Given the description of an element on the screen output the (x, y) to click on. 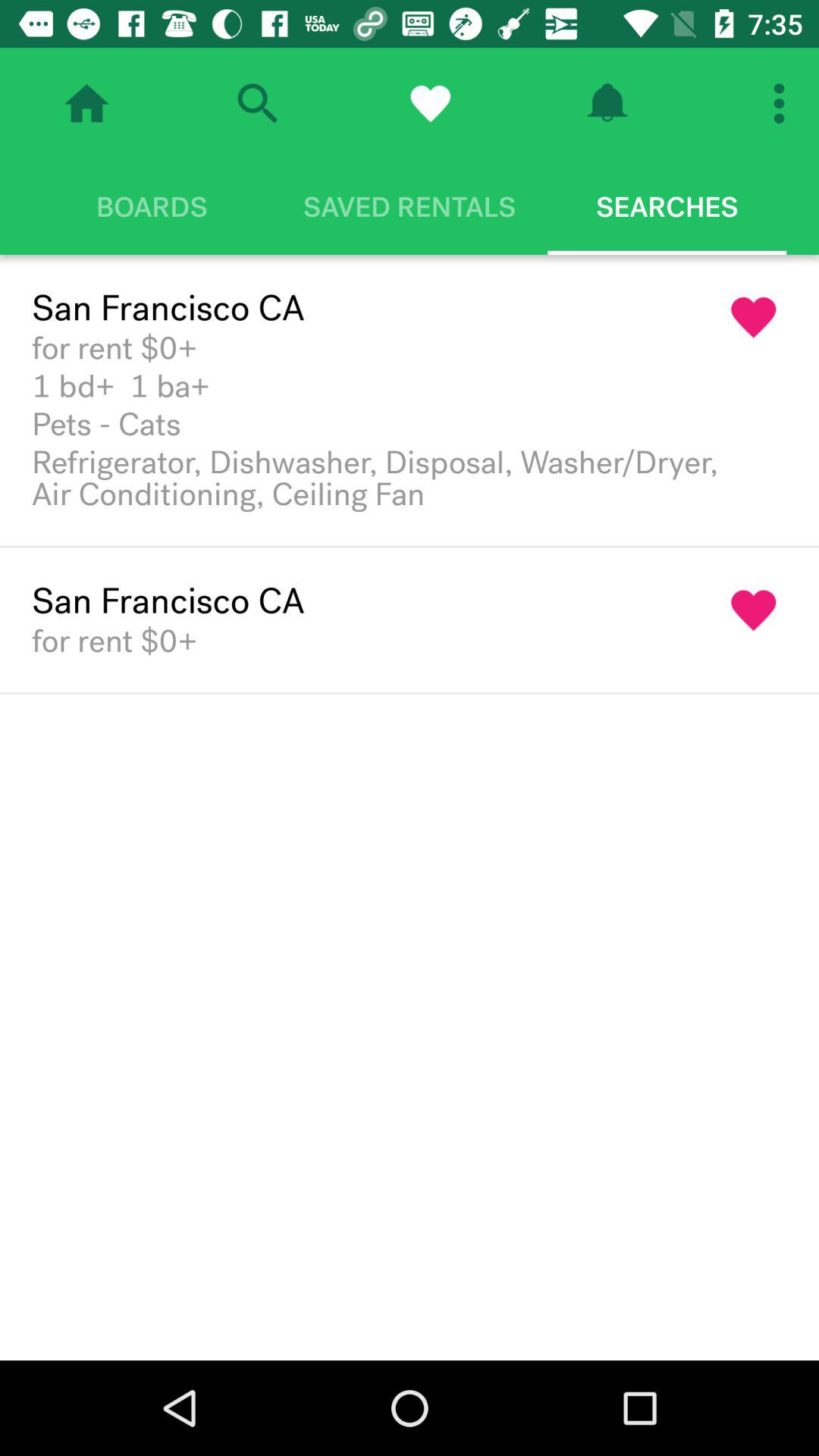
like heart the option (753, 610)
